Given the description of an element on the screen output the (x, y) to click on. 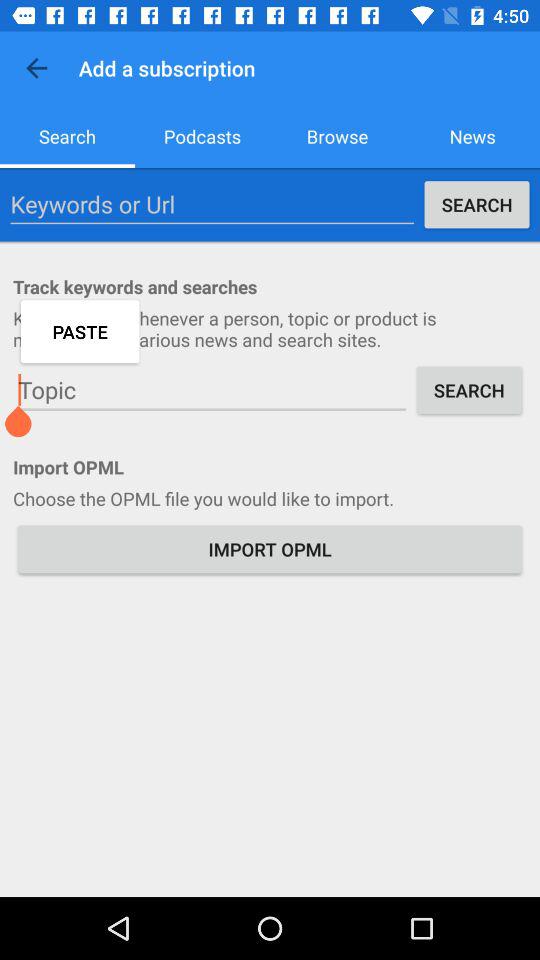
select item next to add a subscription app (36, 68)
